Given the description of an element on the screen output the (x, y) to click on. 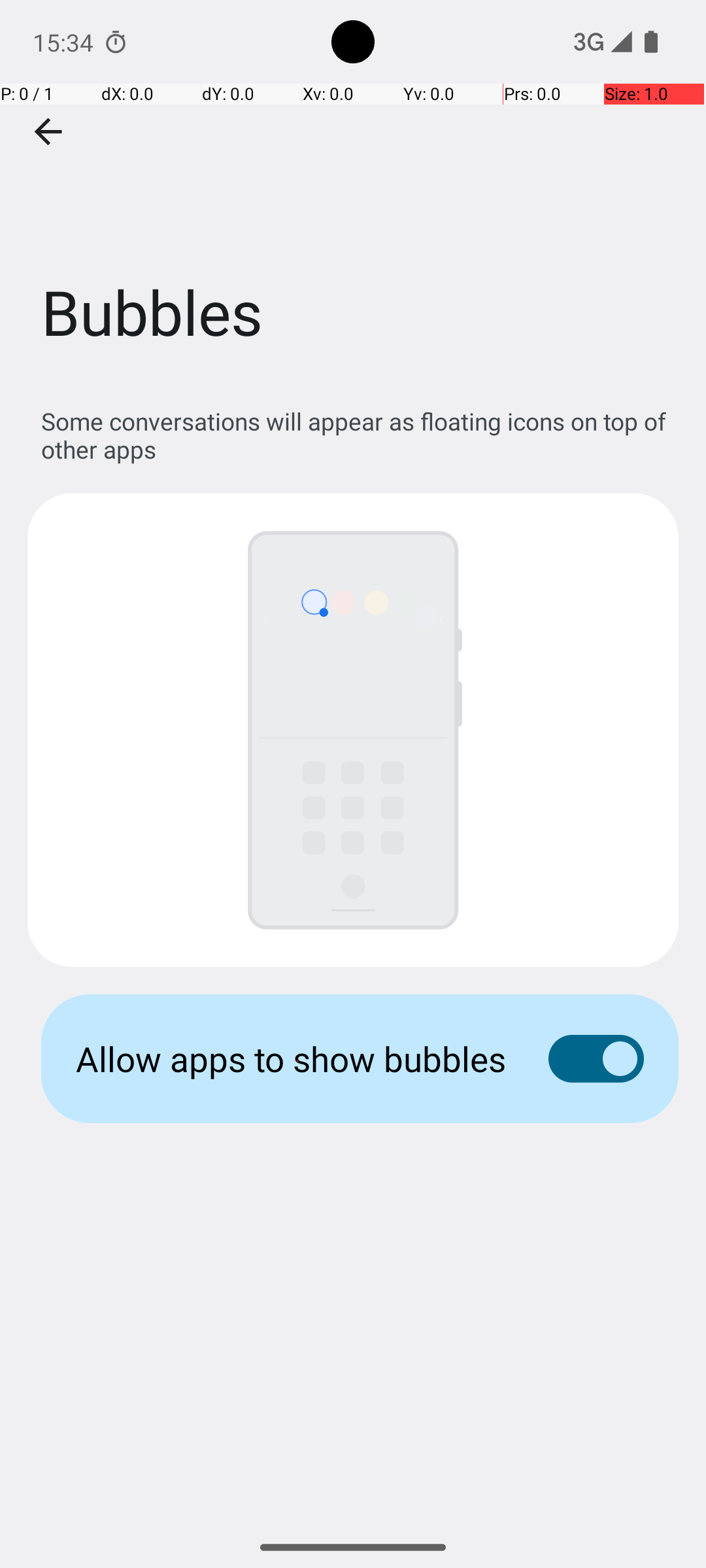
Some conversations will appear as floating icons on top of other apps Element type: android.widget.TextView (359, 434)
Allow apps to show bubbles Element type: android.widget.TextView (291, 1058)
